Given the description of an element on the screen output the (x, y) to click on. 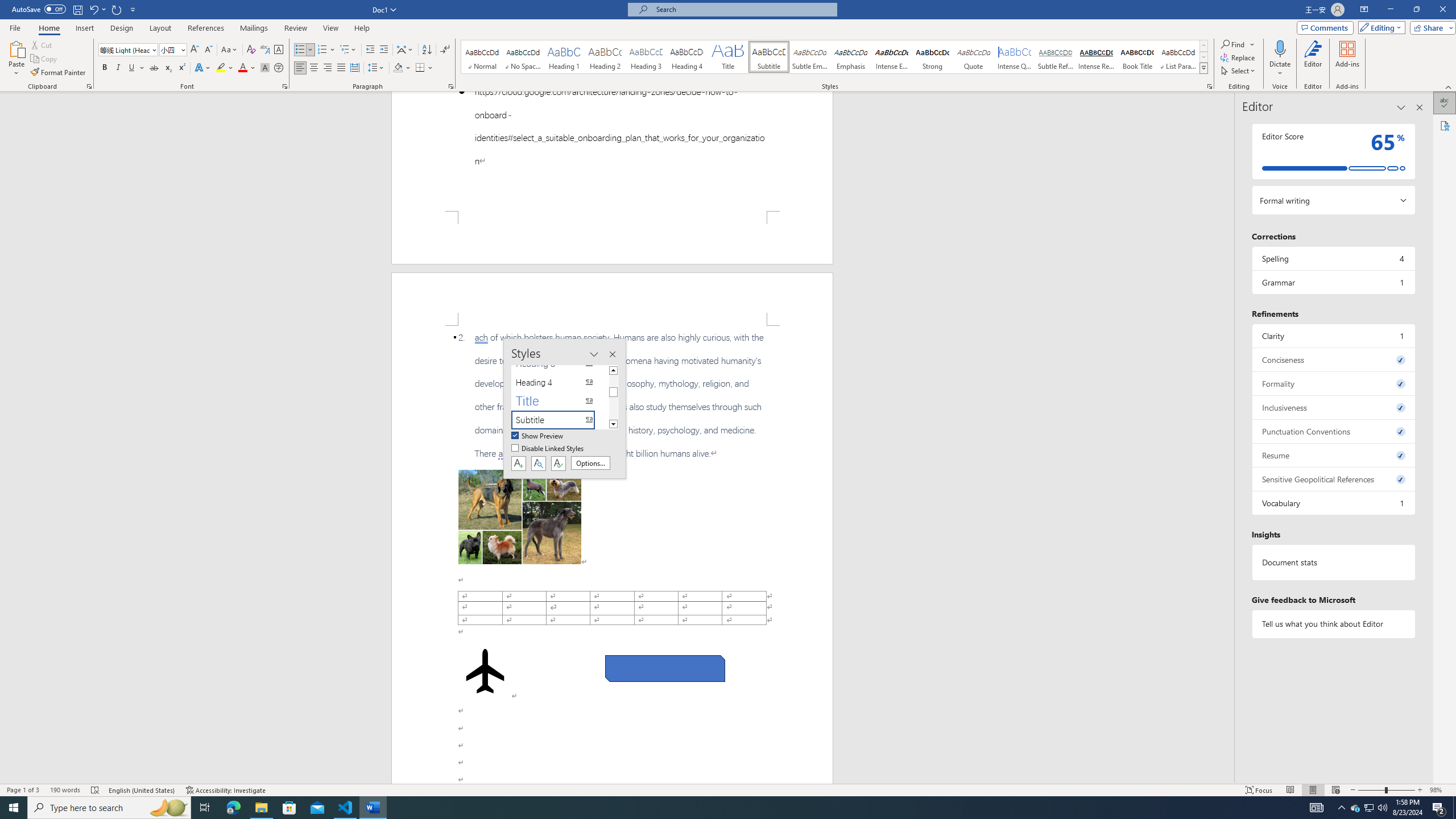
Row Down (1203, 56)
Font Color (246, 67)
Text Highlight Color (224, 67)
Heading 3 (646, 56)
Distributed (354, 67)
Styles (1203, 67)
Rectangle: Diagonal Corners Snipped 2 (665, 668)
Shading (402, 67)
